Given the description of an element on the screen output the (x, y) to click on. 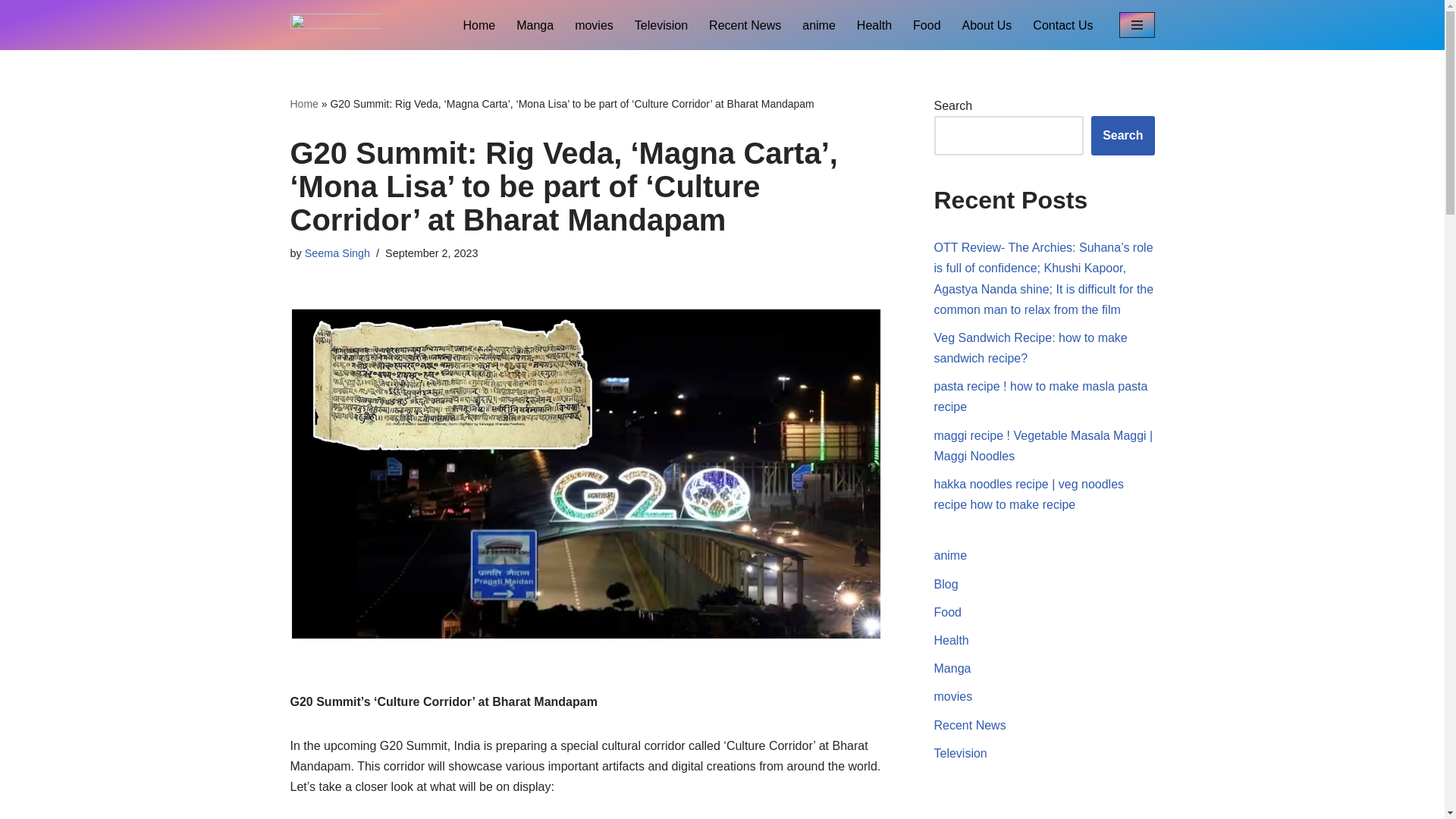
anime (951, 554)
Food (947, 612)
Veg Sandwich Recipe: how to make sandwich recipe? (1030, 347)
Blog (946, 584)
movies (593, 25)
Manga (534, 25)
About Us (986, 25)
Posts by Seema Singh (336, 253)
Navigation Menu (1136, 24)
Recent News (744, 25)
